Given the description of an element on the screen output the (x, y) to click on. 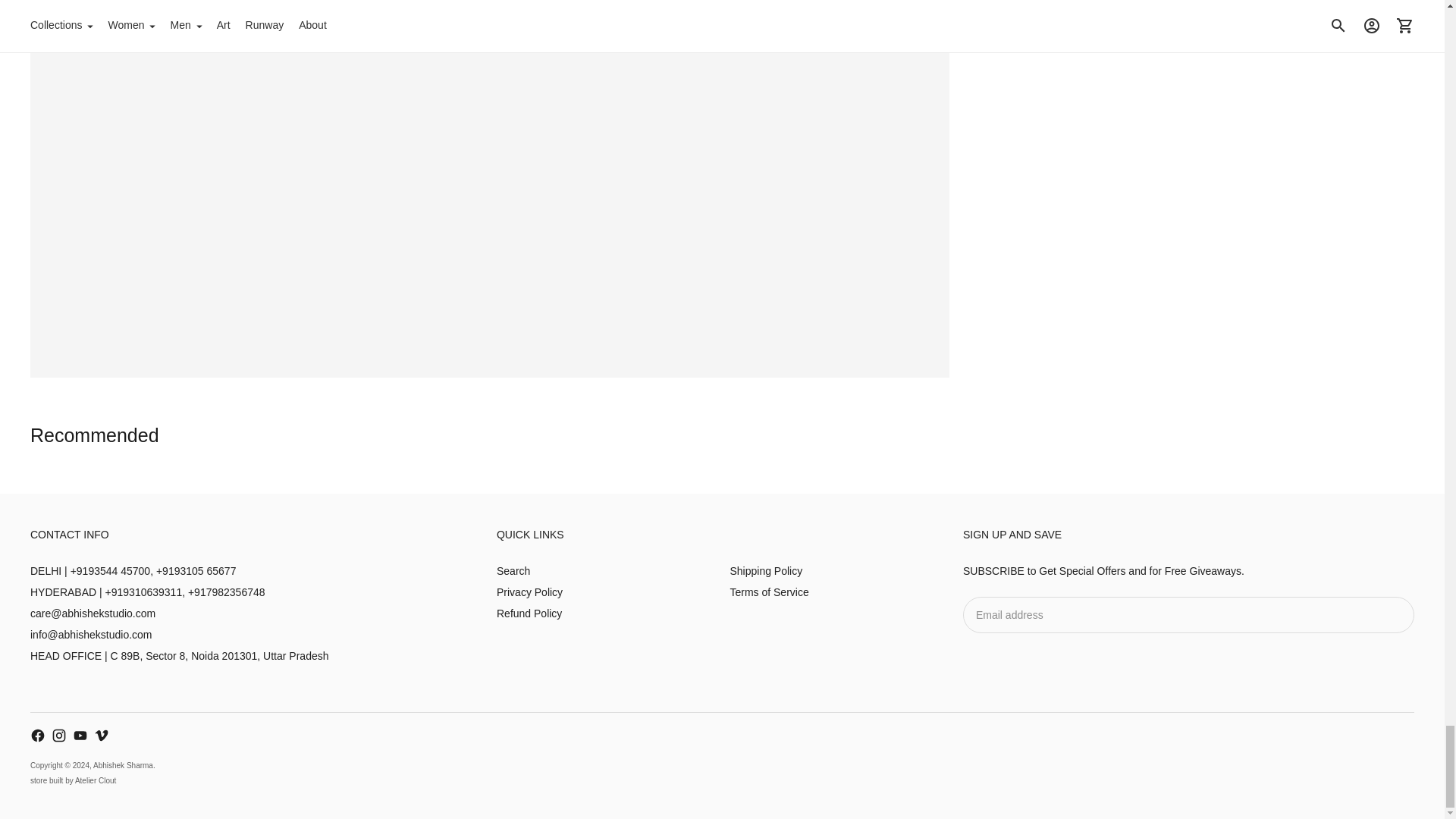
Abhishek Sharma on Vimeo (101, 735)
Abhishek Sharma on Facebook (37, 735)
Abhishek Sharma on YouTube (79, 735)
Abhishek Sharma on Instagram (58, 735)
